Given the description of an element on the screen output the (x, y) to click on. 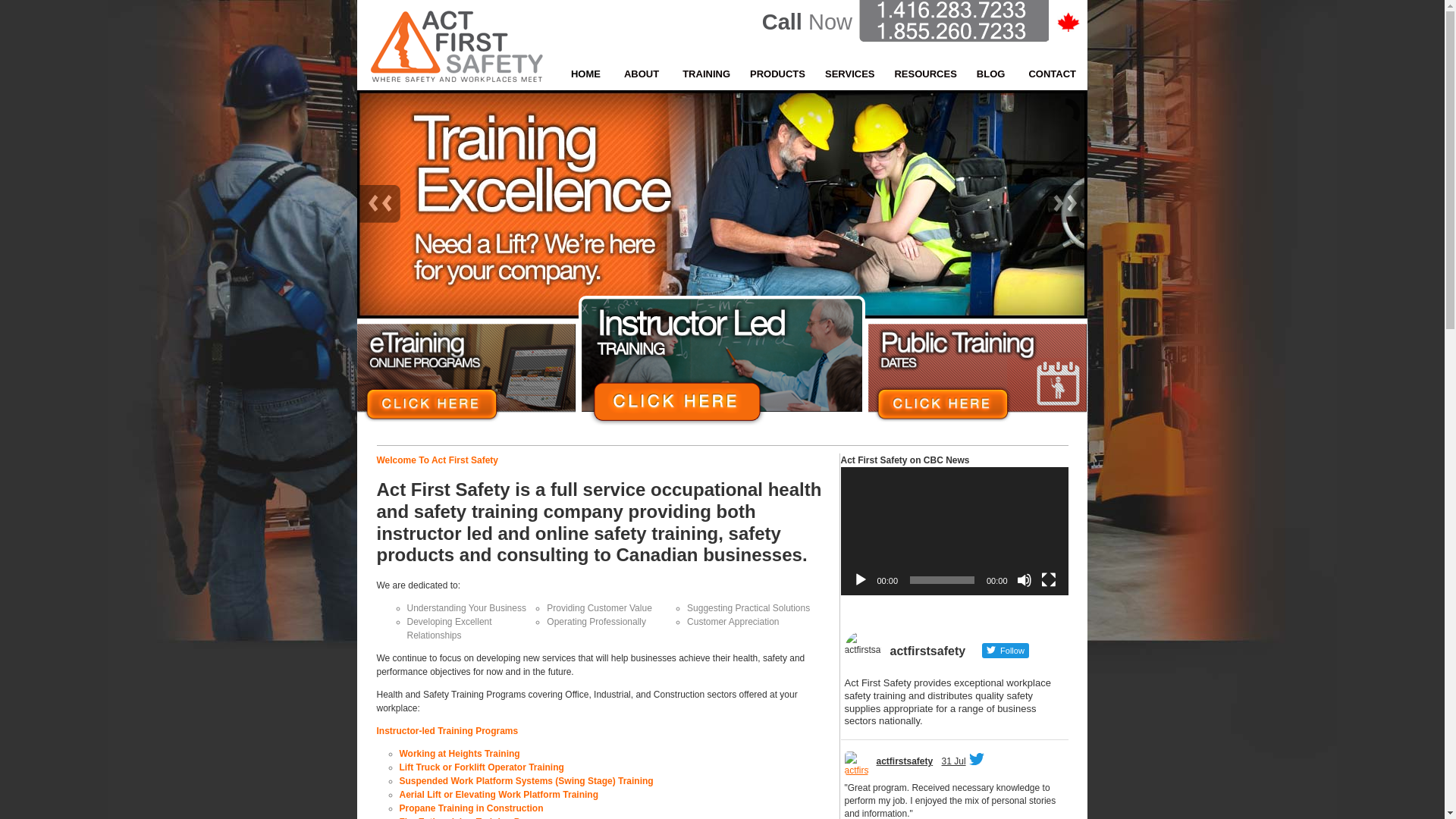
actfirstsafety Element type: text (904, 761)
31 Jul Element type: text (953, 761)
Play Element type: hover (859, 579)
Fullscreen Element type: hover (1047, 579)
SERVICES Element type: text (847, 73)
HOME Element type: text (585, 73)
BLOG Element type: text (990, 73)
TRAINING Element type: text (703, 73)
CONTACT Element type: text (1051, 73)
Proudly Canadian Element type: hover (1068, 21)
RESOURCES Element type: text (922, 73)
Mute Element type: hover (1023, 579)
ABOUT Element type: text (640, 73)
PRODUCTS Element type: text (774, 73)
